Given the description of an element on the screen output the (x, y) to click on. 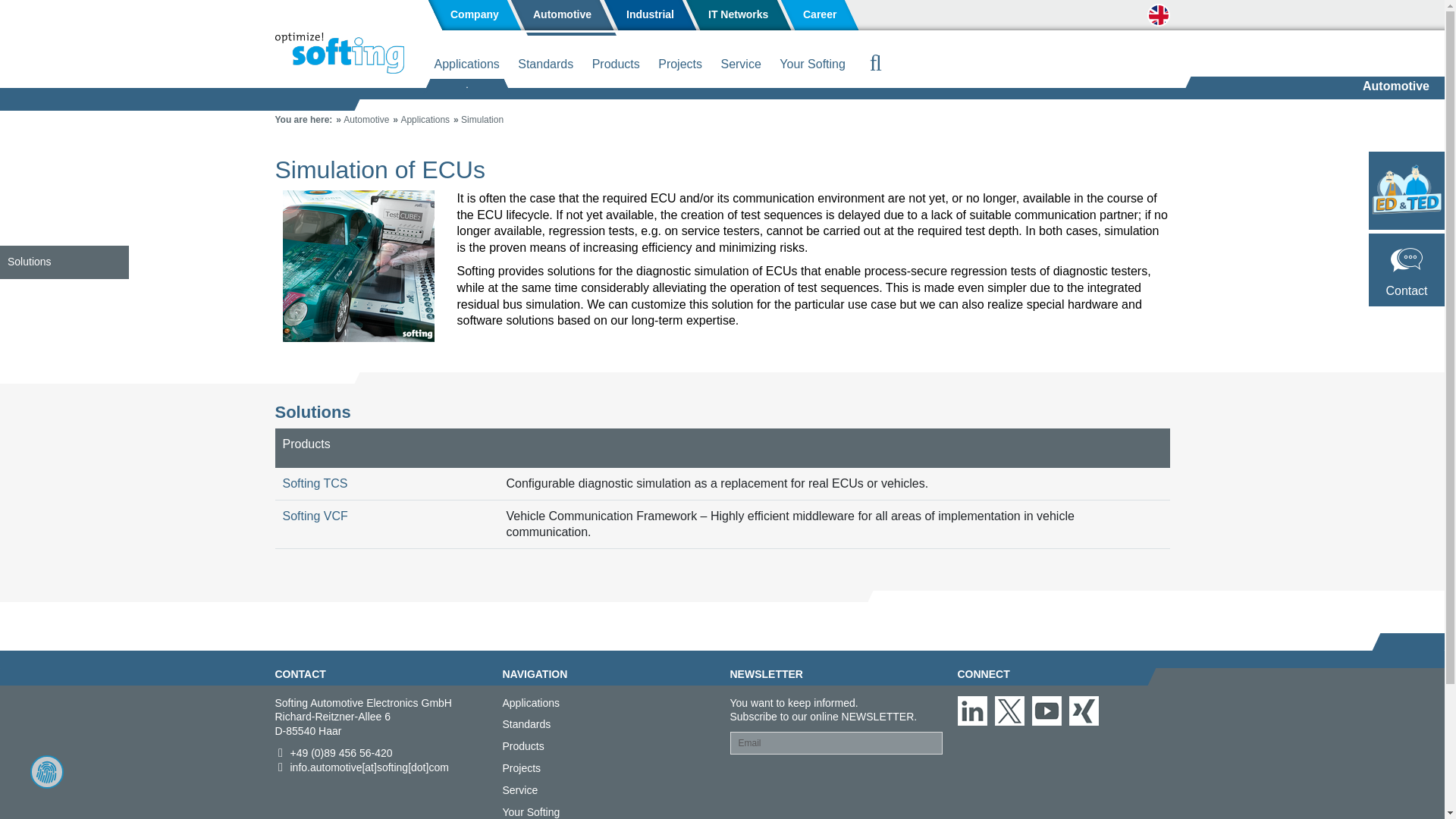
ODX ISO 22901-1 (608, 93)
Electric Testing (1062, 96)
Measurement (608, 96)
Applications (424, 119)
Automotive (562, 15)
Applications (466, 67)
Home (339, 52)
IT Networks (738, 15)
Simulation (482, 119)
